Given the description of an element on the screen output the (x, y) to click on. 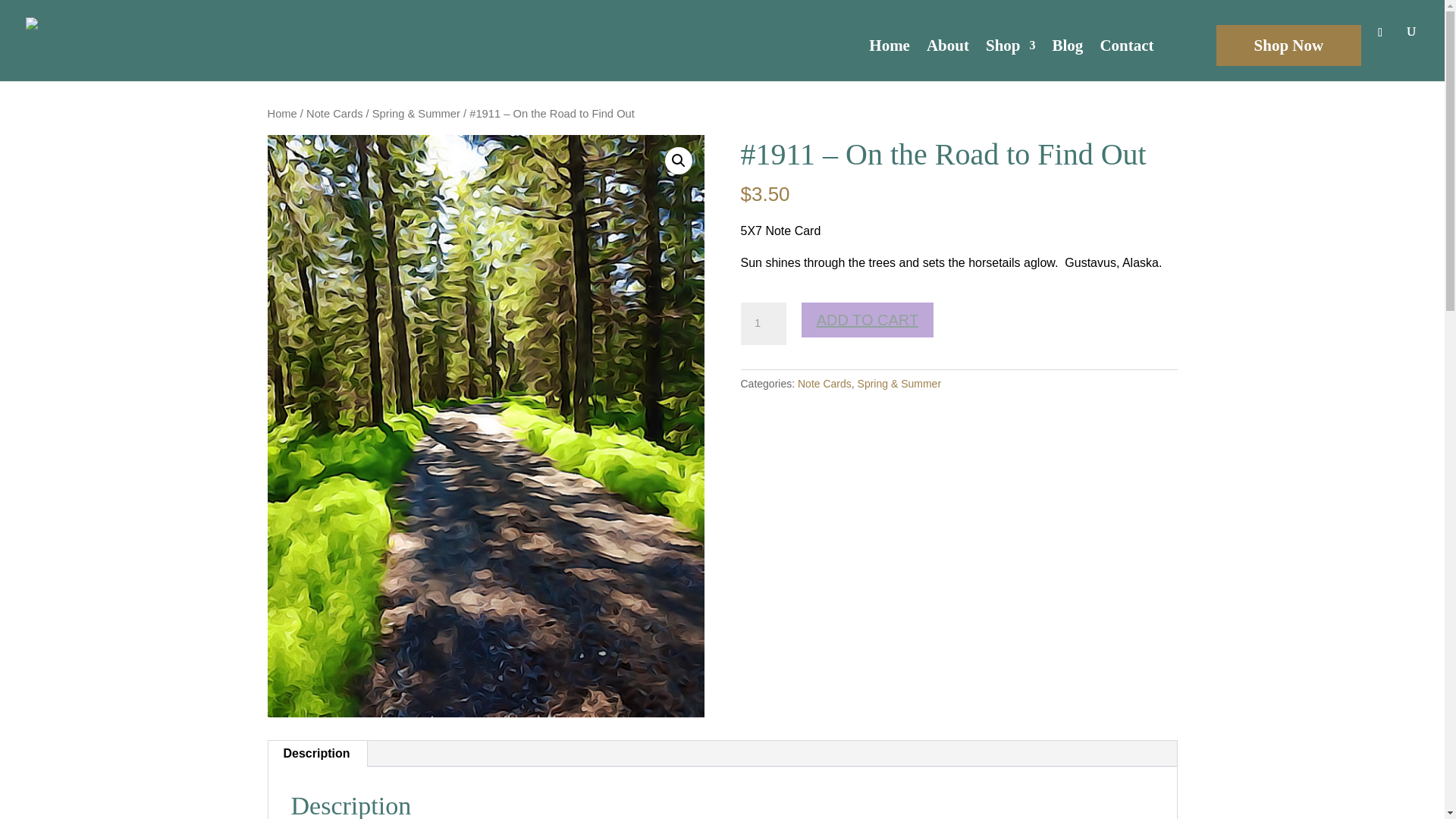
1 (762, 323)
Home (889, 58)
Note Cards (333, 113)
Home (281, 113)
About (947, 58)
Shop Now (1288, 45)
ADD TO CART (867, 319)
Shop (1010, 58)
Contact (1126, 58)
